Given the description of an element on the screen output the (x, y) to click on. 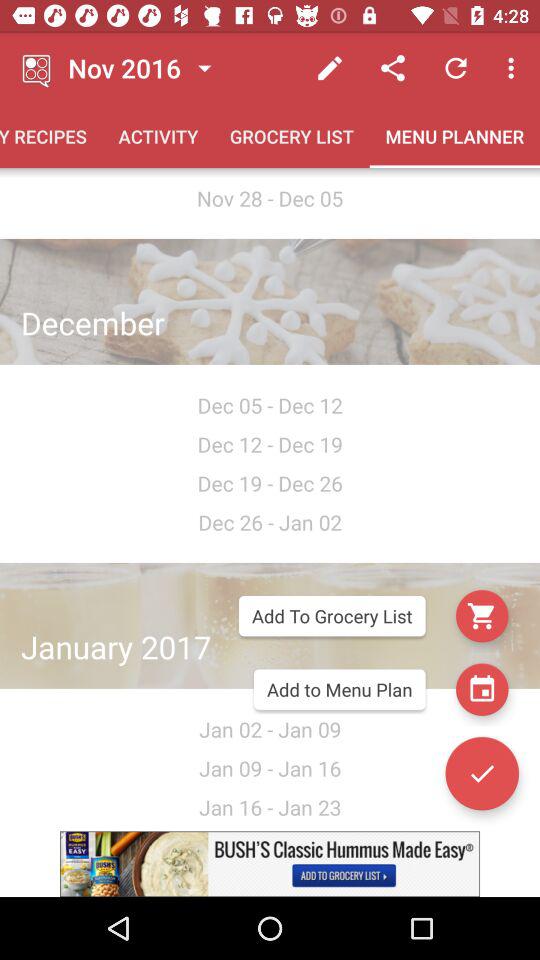
check calendar (482, 689)
